Given the description of an element on the screen output the (x, y) to click on. 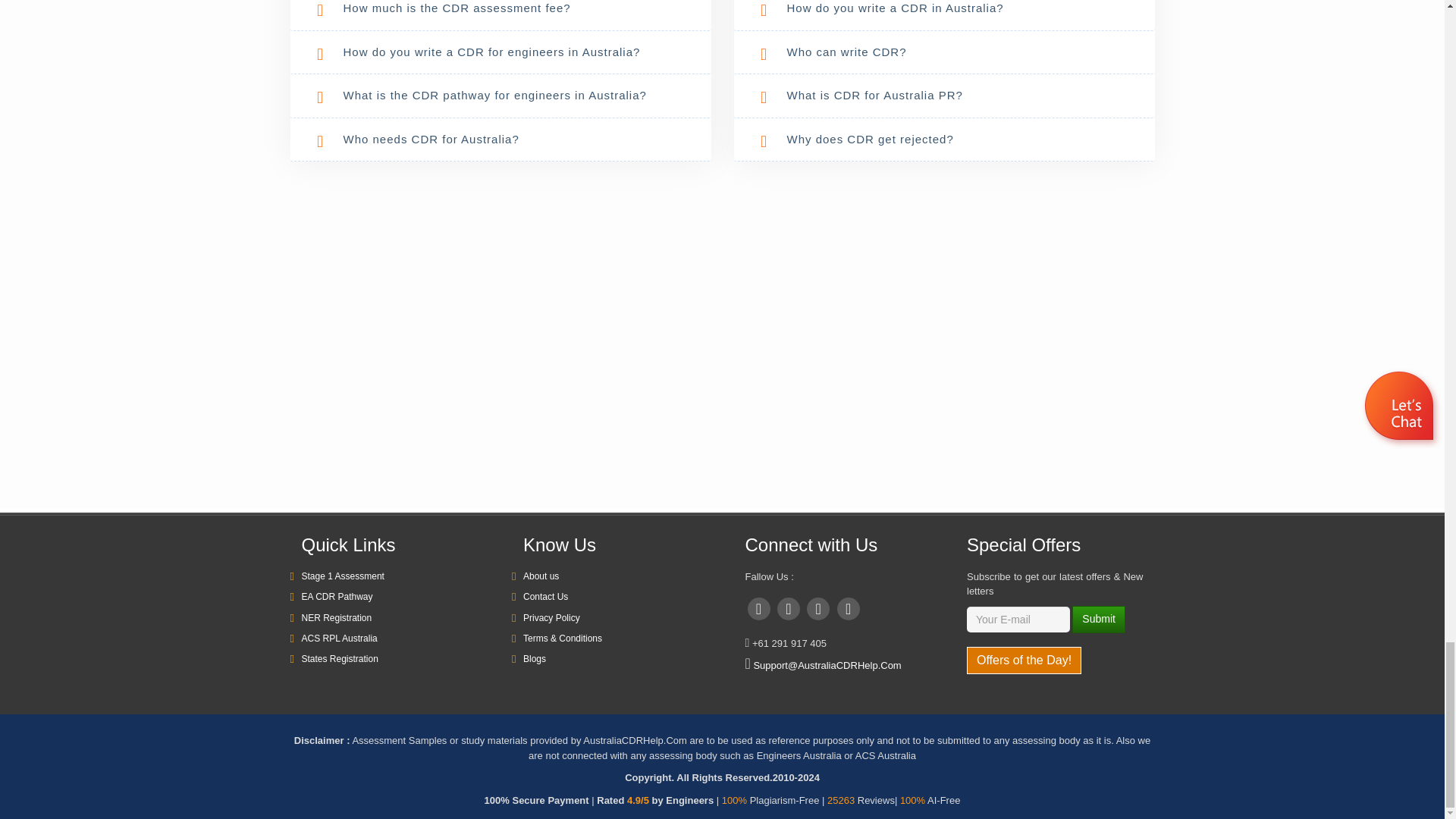
Submit (1098, 619)
